Given the description of an element on the screen output the (x, y) to click on. 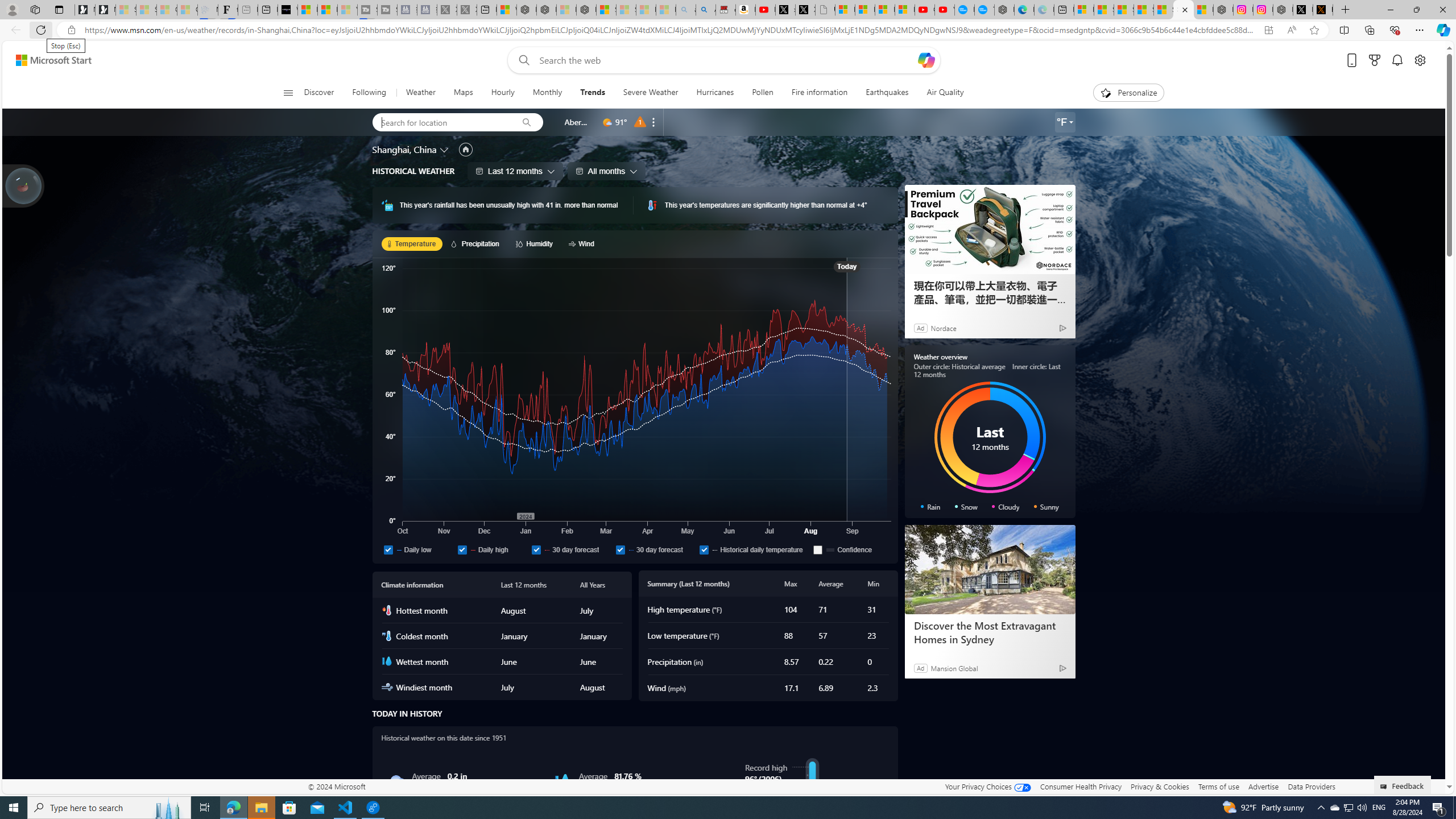
Privacy & Cookies (1160, 786)
Feedback (1402, 784)
Web search (520, 60)
Historical daily temperature (753, 549)
Confidence (817, 549)
Change location (445, 149)
Discover the Most Extravagant Homes in Sydney (988, 632)
Settings and more (Alt+F) (1419, 29)
Ad (919, 668)
Advertise (1263, 785)
Personalize (1128, 92)
